Given the description of an element on the screen output the (x, y) to click on. 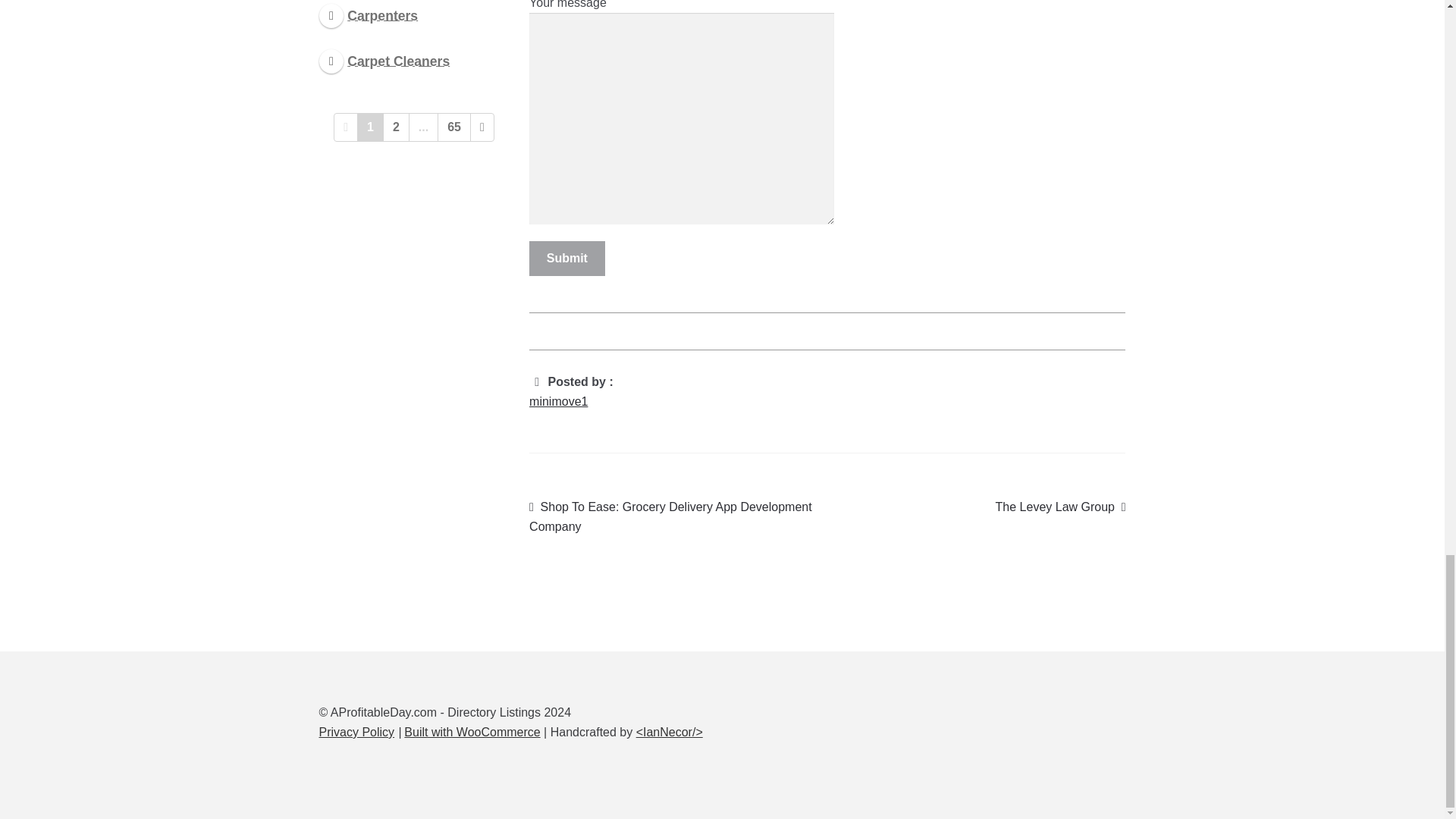
Submit (567, 258)
